Given the description of an element on the screen output the (x, y) to click on. 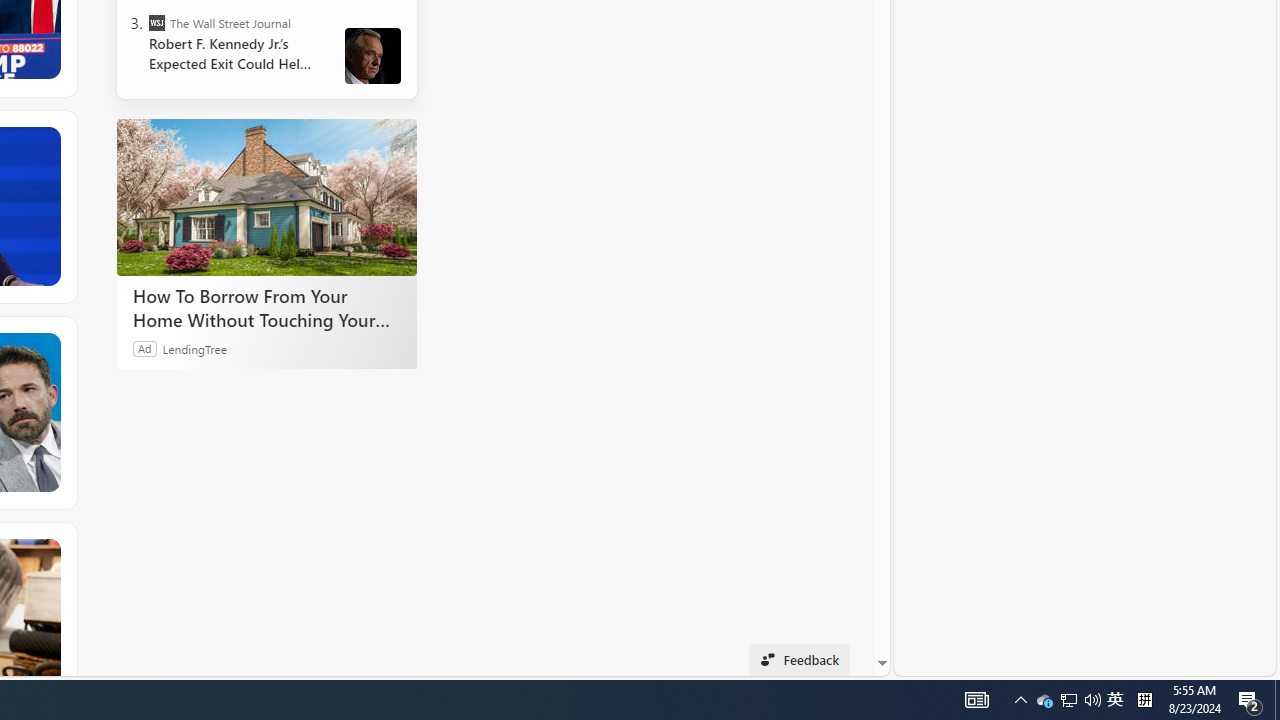
LendingTree (194, 348)
The Wall Street Journal (156, 22)
